Given the description of an element on the screen output the (x, y) to click on. 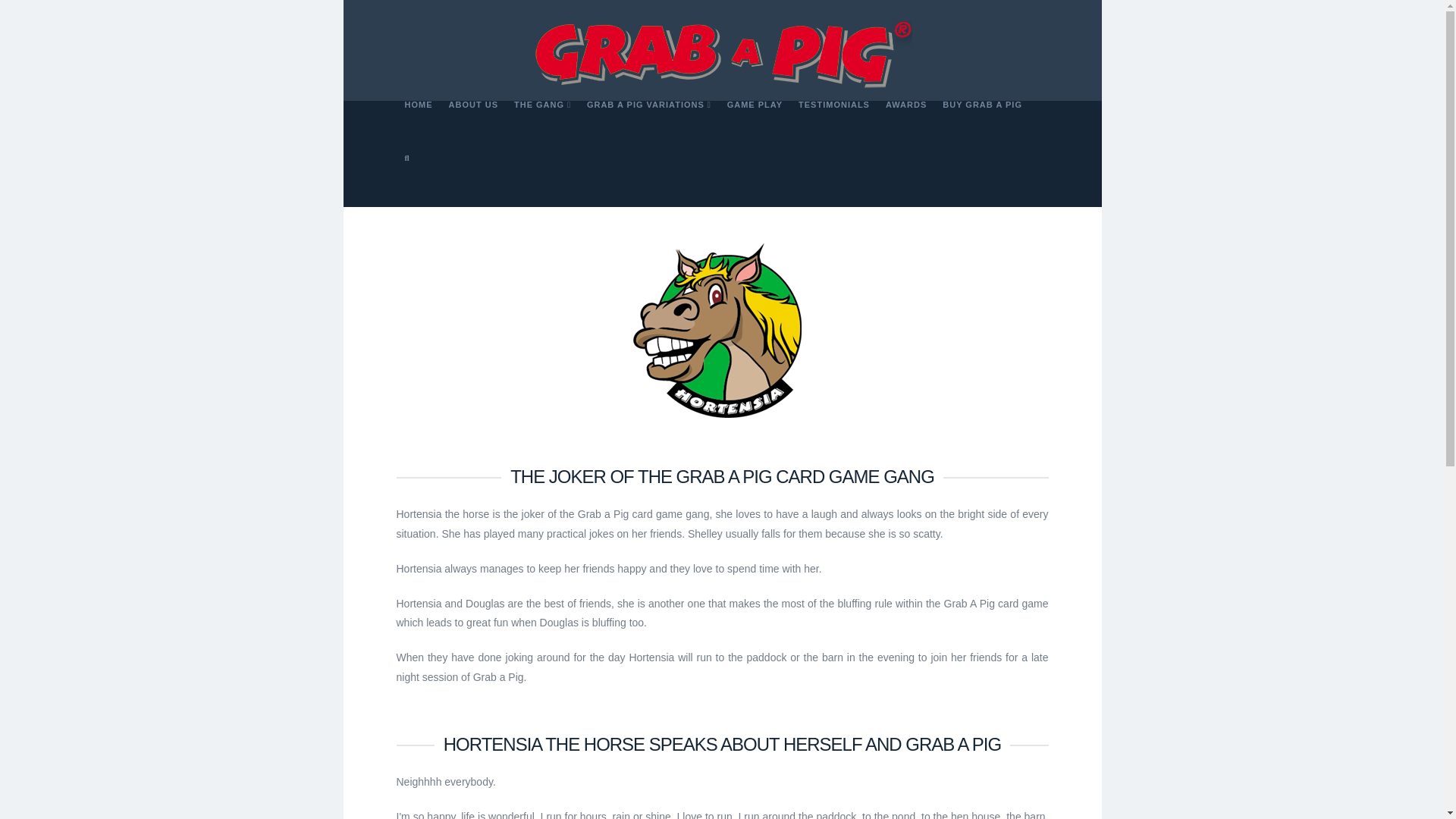
BUY GRAB A PIG (981, 126)
GAME PLAY (754, 126)
ABOUT US (473, 126)
GRAB A PIG VARIATIONS (648, 126)
AWARDS (905, 126)
THE GANG (541, 126)
TESTIMONIALS (833, 126)
